Given the description of an element on the screen output the (x, y) to click on. 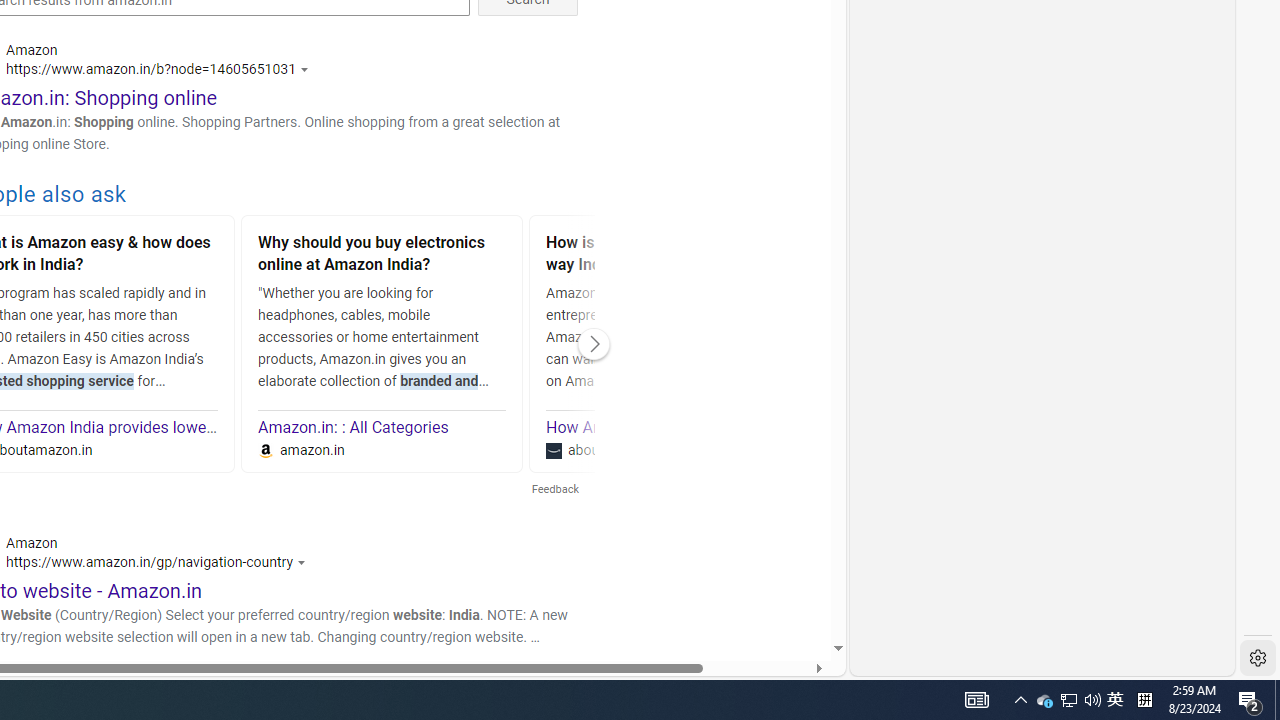
Amazon.in: : All Categories (353, 427)
Search more (792, 588)
Why should you buy electronics online at Amazon India? (381, 255)
AutomationID: mfa_root (762, 588)
How is Amazon easy changing the way India buys? (669, 255)
